Given the description of an element on the screen output the (x, y) to click on. 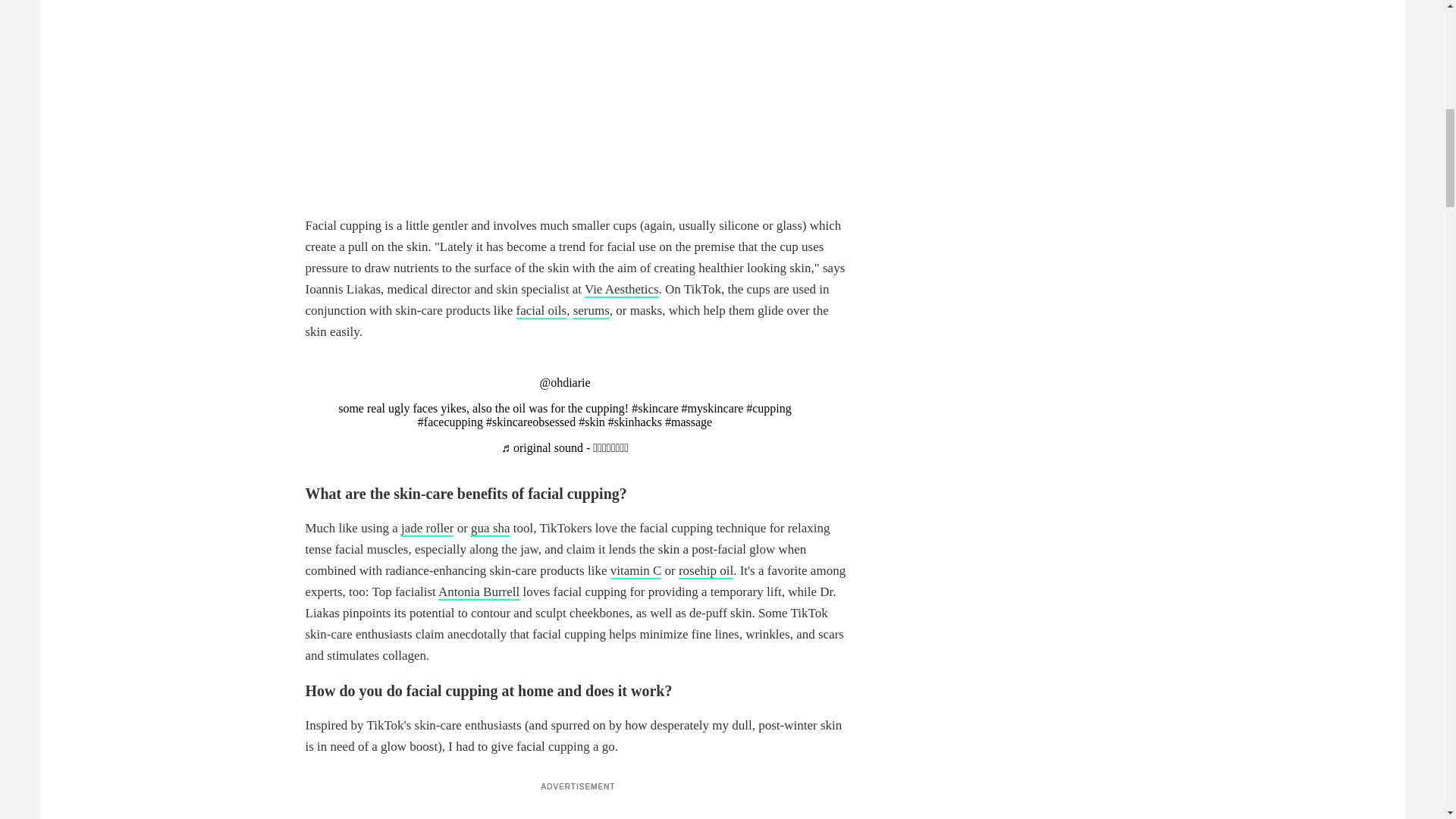
skin (591, 421)
skinhacks (635, 421)
serums (591, 311)
myskincare (711, 408)
facial oils (541, 311)
gua sha (489, 528)
jade roller (426, 528)
massage (688, 421)
cupping (768, 408)
skincare (654, 408)
skincareobsessed (530, 421)
facecupping (450, 421)
Vie Aesthetics (622, 289)
